Given the description of an element on the screen output the (x, y) to click on. 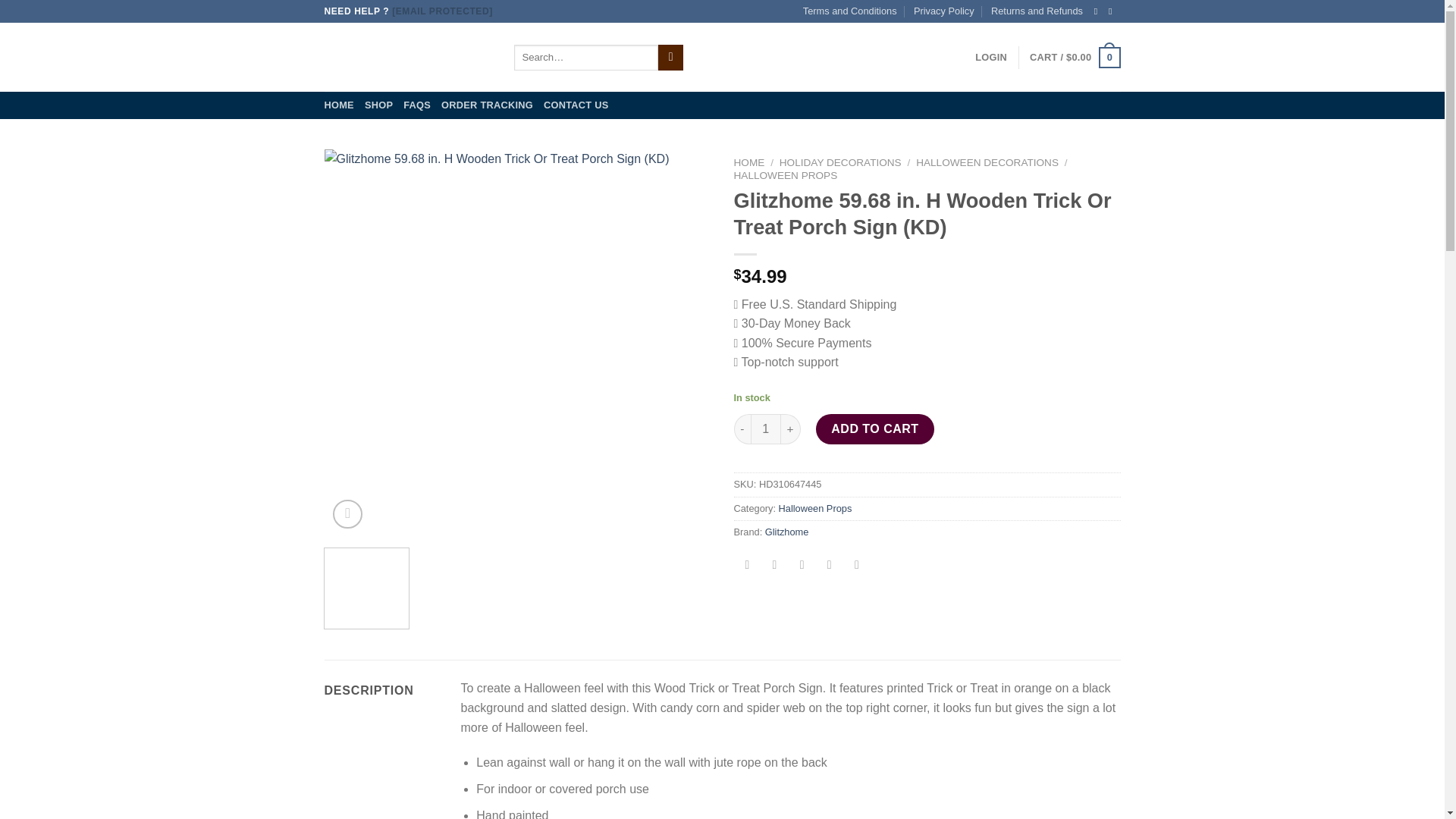
Qty (765, 429)
VU Depot (408, 57)
HOME (338, 104)
HOLIDAY DECORATIONS (839, 162)
SHOP (379, 104)
HALLOWEEN DECORATIONS (986, 162)
1 (765, 429)
LOGIN (991, 57)
Halloween Props (814, 508)
Zoom (347, 514)
Privacy Policy (944, 11)
CONTACT US (575, 104)
